Given the description of an element on the screen output the (x, y) to click on. 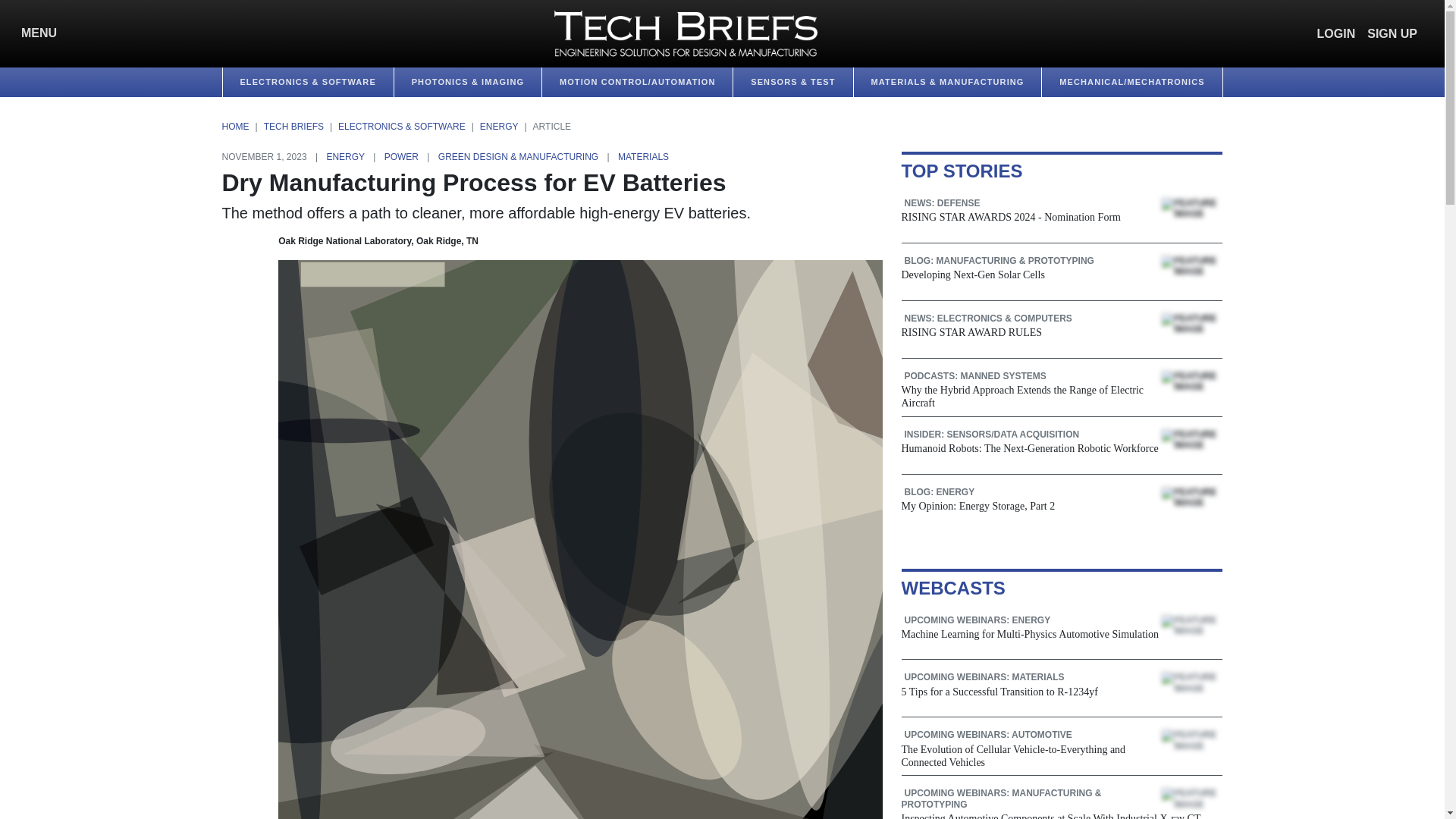
MENU (35, 33)
LOGIN (1336, 32)
SIGN UP (1392, 32)
